Given the description of an element on the screen output the (x, y) to click on. 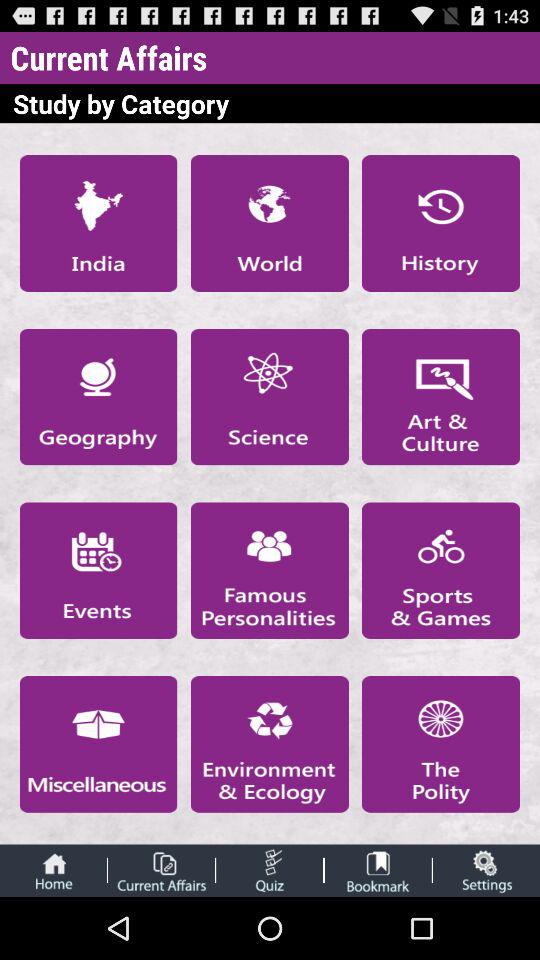
go to art and culture (441, 396)
